Given the description of an element on the screen output the (x, y) to click on. 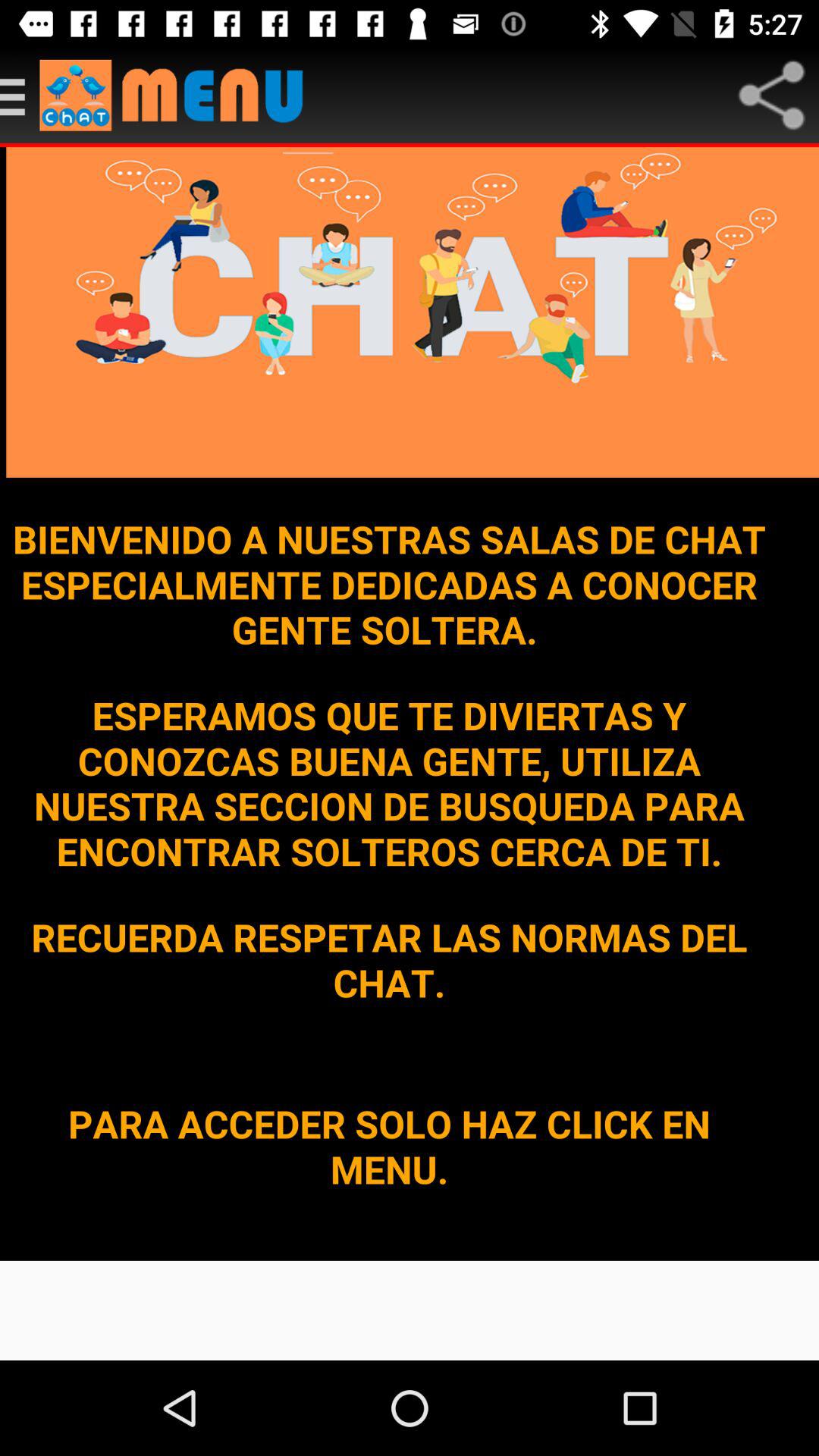
open the menu (178, 95)
